Given the description of an element on the screen output the (x, y) to click on. 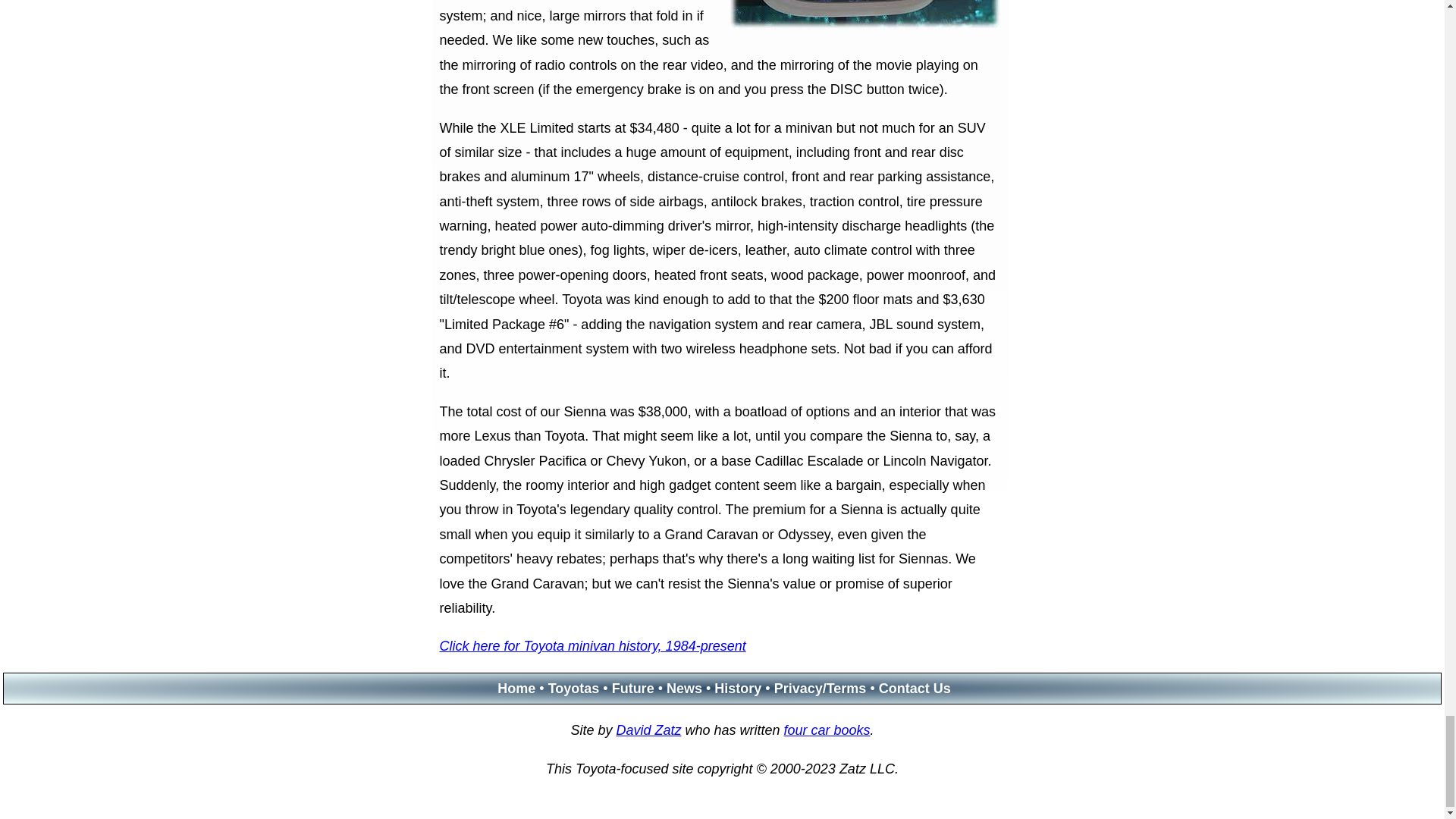
Home (516, 688)
Future (632, 688)
David Zatz (648, 729)
History (737, 688)
Click here for Toyota minivan history, 1984-present (592, 645)
four car books (827, 729)
Contact Us (914, 688)
Toyotas (573, 688)
News (683, 688)
